Given the description of an element on the screen output the (x, y) to click on. 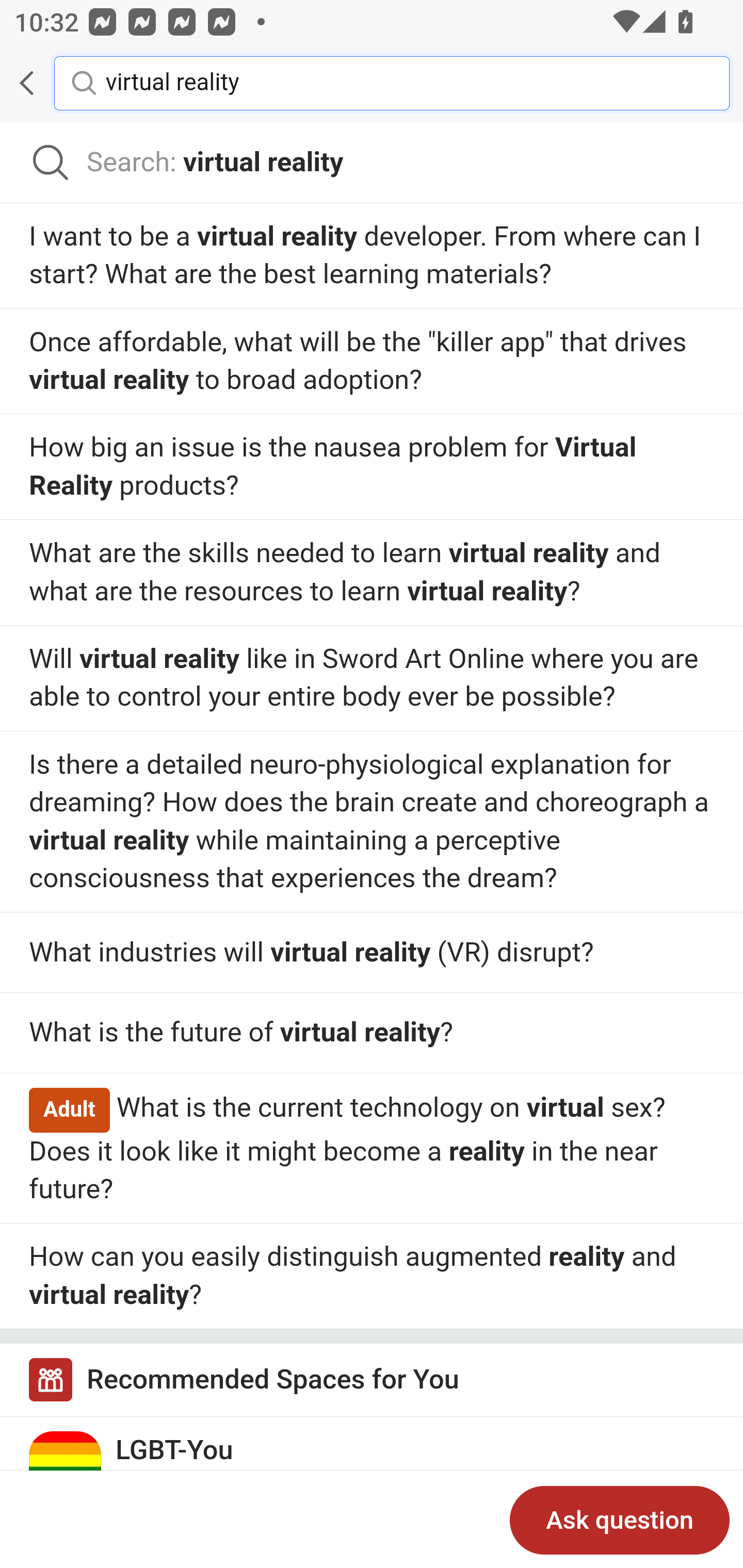
Me Home Search Add (371, 82)
virtual reality (402, 82)
Search: vir (371, 162)
Why would someone buy a virtual good? (371, 1033)
Icon for LGBT-You (65, 1466)
